Given the description of an element on the screen output the (x, y) to click on. 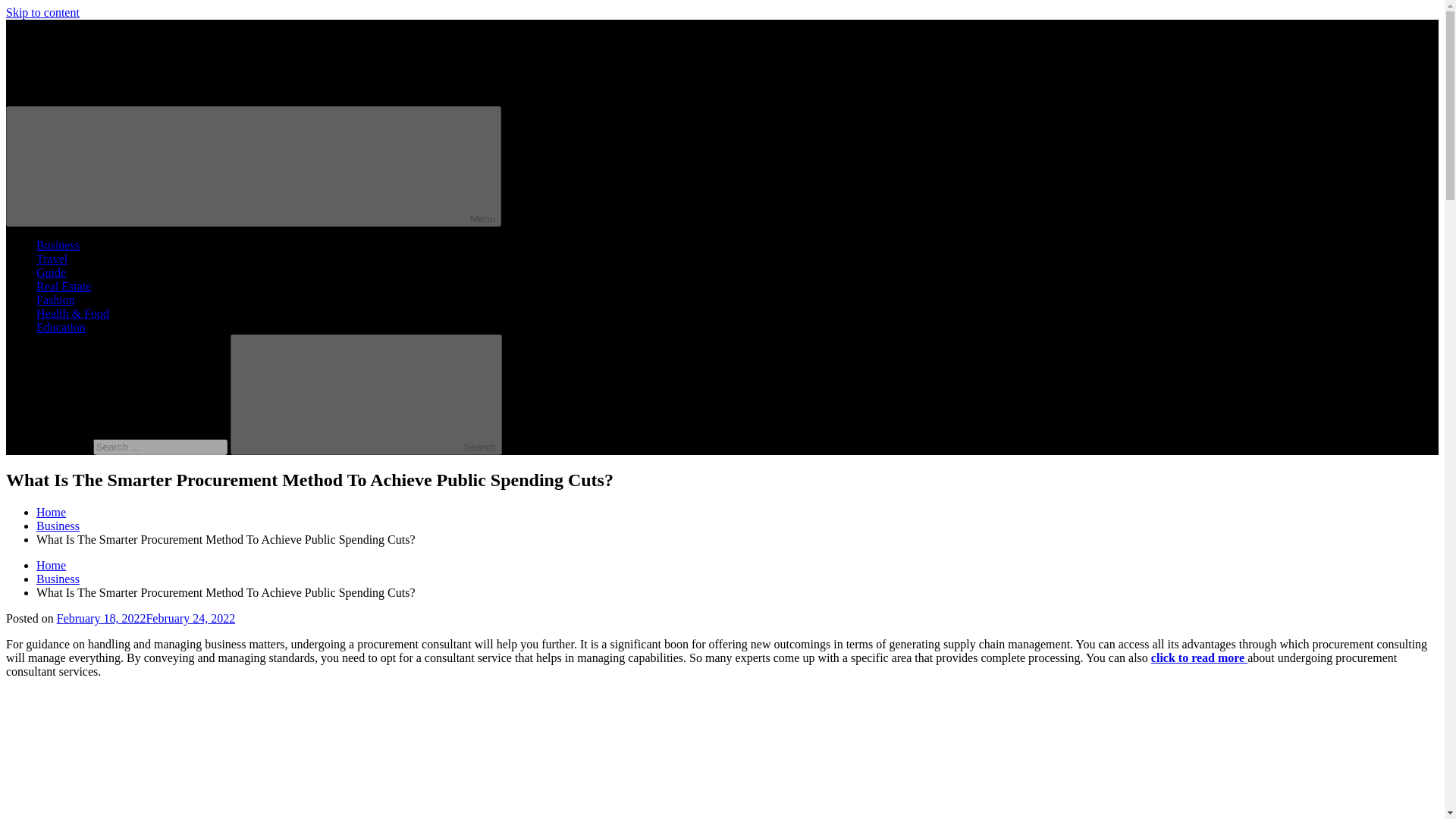
Real Estate (63, 286)
Halk Haber (33, 124)
Business (58, 578)
click to read more (1199, 657)
Business (58, 525)
Home (50, 512)
Skip to content (42, 11)
Travel (51, 258)
Education (60, 327)
Search (366, 394)
Guide (50, 272)
Menu (252, 166)
Home (50, 564)
February 18, 2022February 24, 2022 (145, 617)
Business (58, 245)
